Given the description of an element on the screen output the (x, y) to click on. 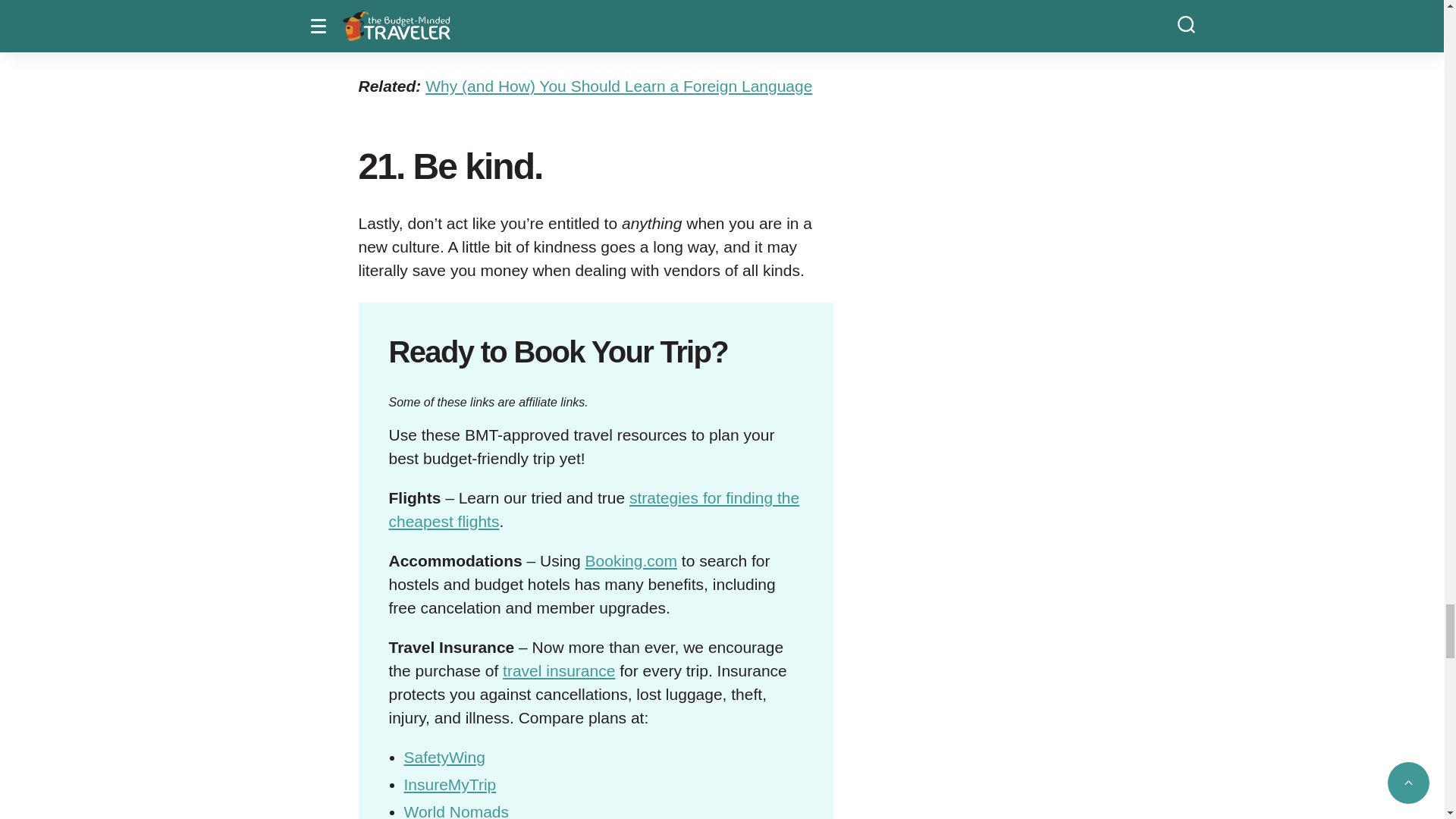
Booking.com (631, 560)
travel insurance (558, 670)
strategies for finding the cheapest flights (593, 508)
